Given the description of an element on the screen output the (x, y) to click on. 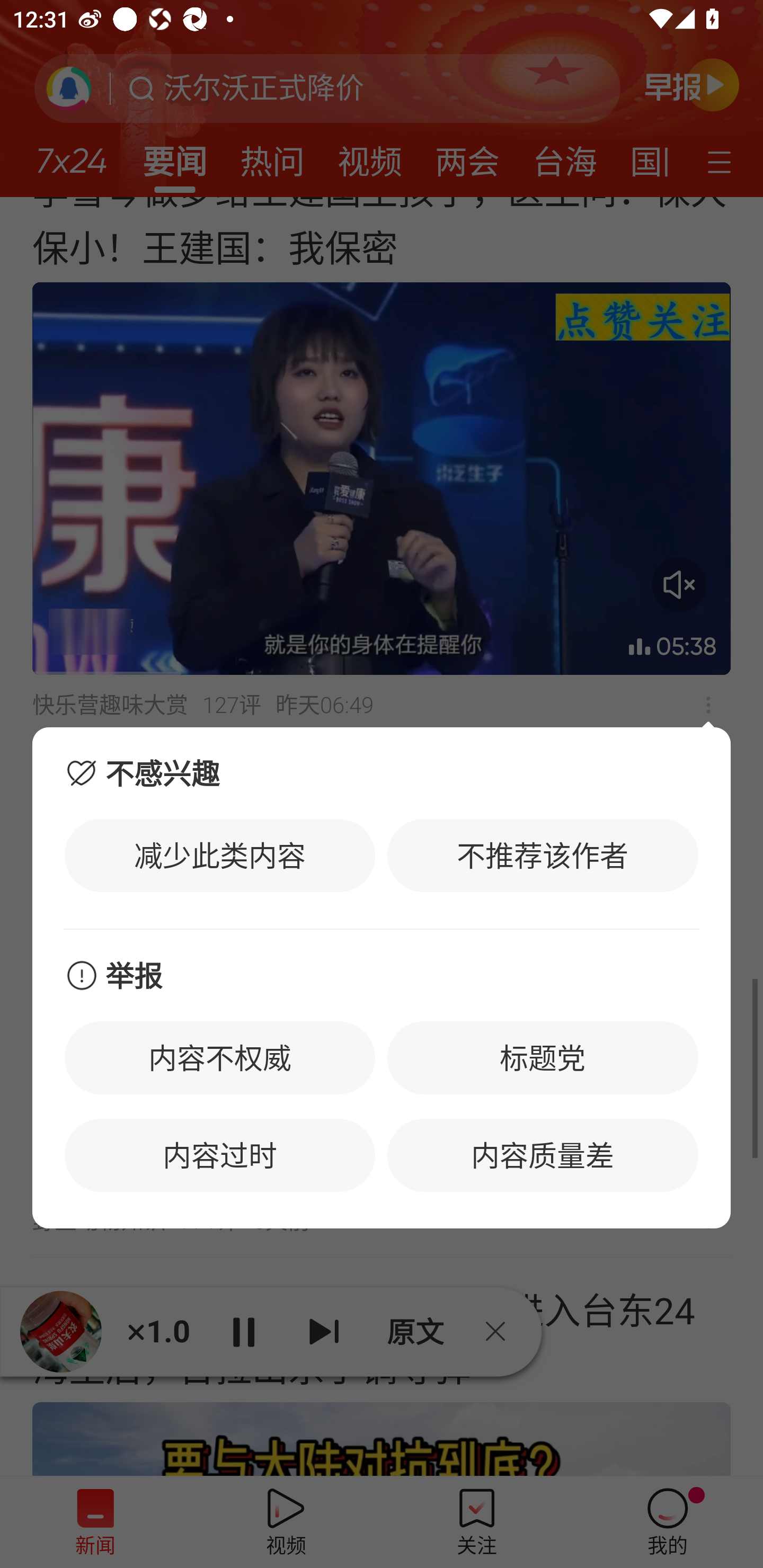
减少此类内容 (219, 855)
不推荐该作者 (542, 855)
内容不权威 (219, 1057)
标题党 (542, 1057)
内容过时 (219, 1155)
内容质量差 (542, 1155)
